Given the description of an element on the screen output the (x, y) to click on. 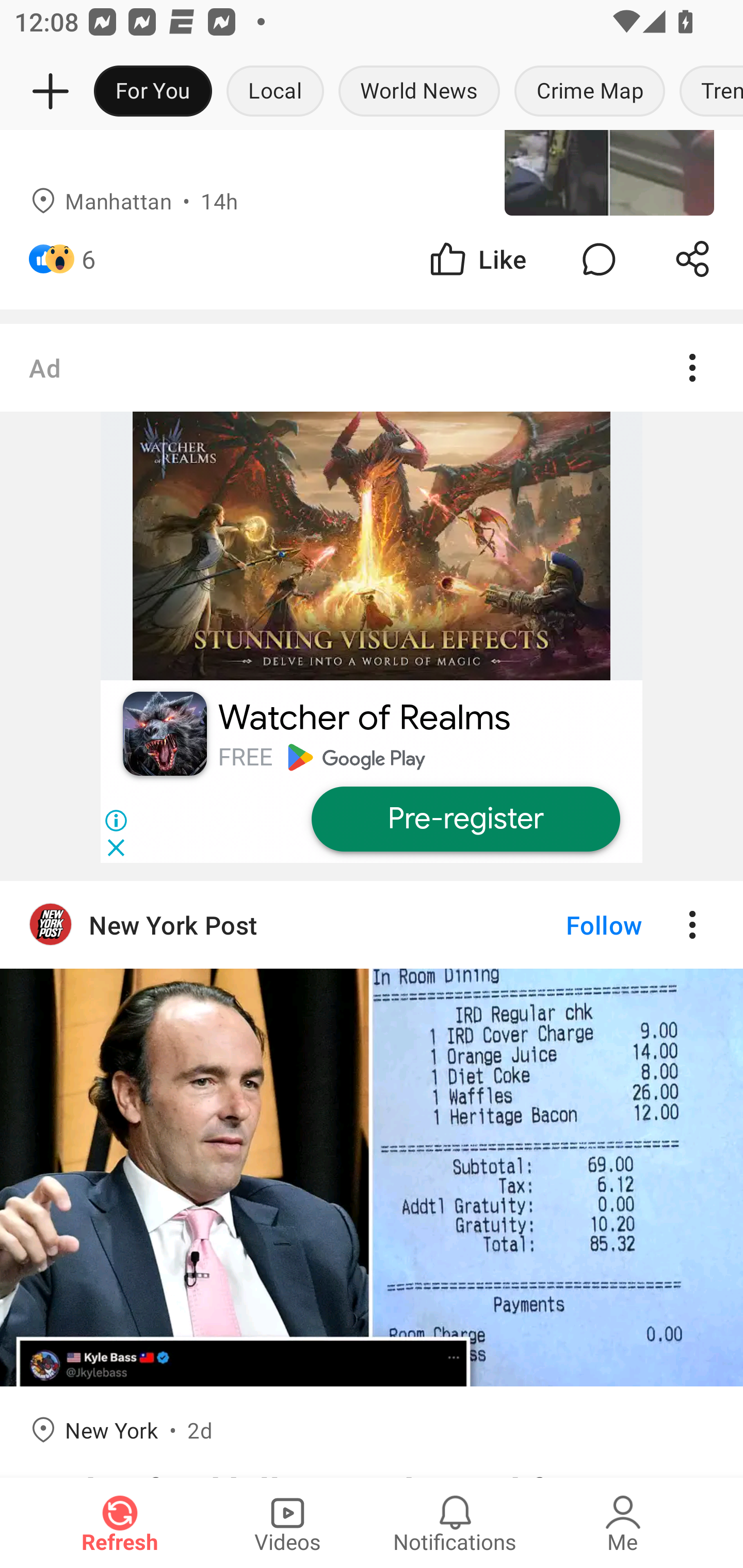
For You (152, 91)
Local (275, 91)
World News (419, 91)
Crime Map (589, 91)
6 (88, 259)
Like (476, 259)
Watcher of Realms (364, 717)
FREE (245, 757)
Pre-register (464, 818)
New York Post Follow (371, 925)
Follow (569, 925)
Videos (287, 1522)
Notifications (455, 1522)
Me (622, 1522)
